Given the description of an element on the screen output the (x, y) to click on. 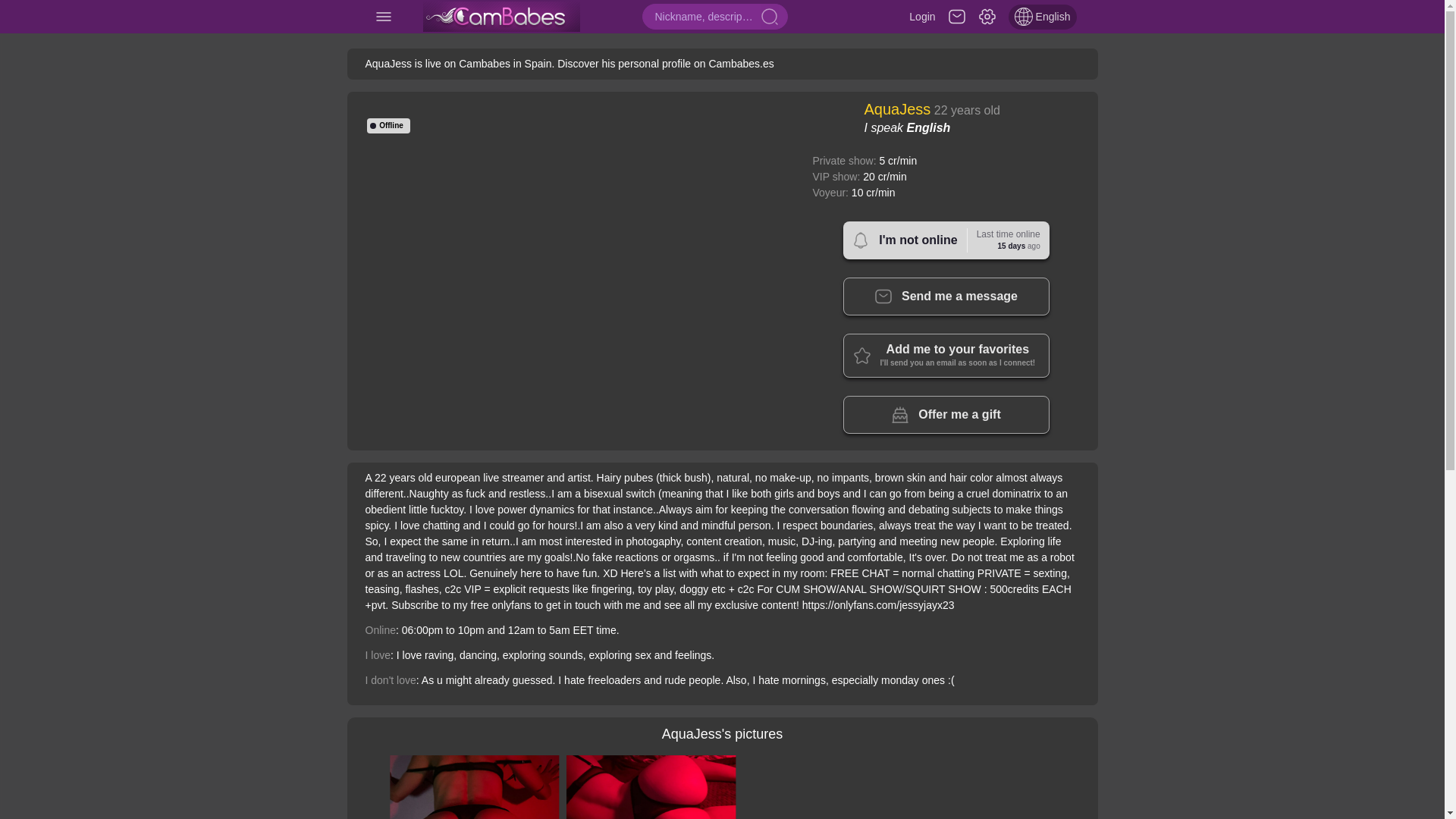
See all girls (501, 16)
Send me a message (946, 240)
Offer me a gift (946, 296)
